Given the description of an element on the screen output the (x, y) to click on. 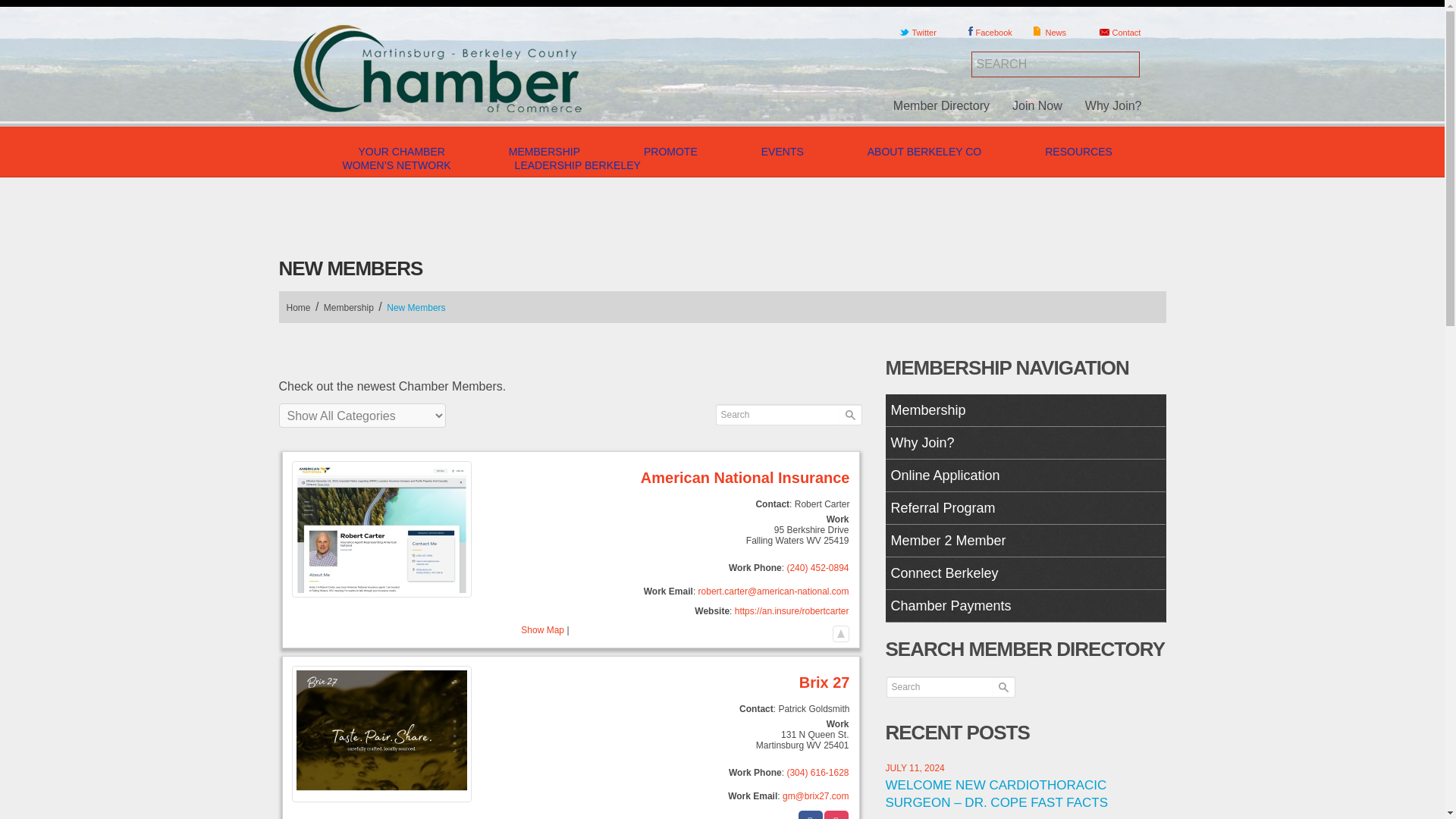
Member Directory (941, 106)
Search Directory (849, 414)
American National Insurance (773, 591)
News (1061, 32)
Twitter (927, 32)
Search Directory (1002, 686)
Facebook (994, 32)
Return to top. (840, 630)
Join Now (1037, 106)
EVENTS (782, 151)
News (1061, 32)
Brix 27 (815, 796)
Search Directory (849, 414)
Contact (1128, 32)
American National Insurance (569, 477)
